Given the description of an element on the screen output the (x, y) to click on. 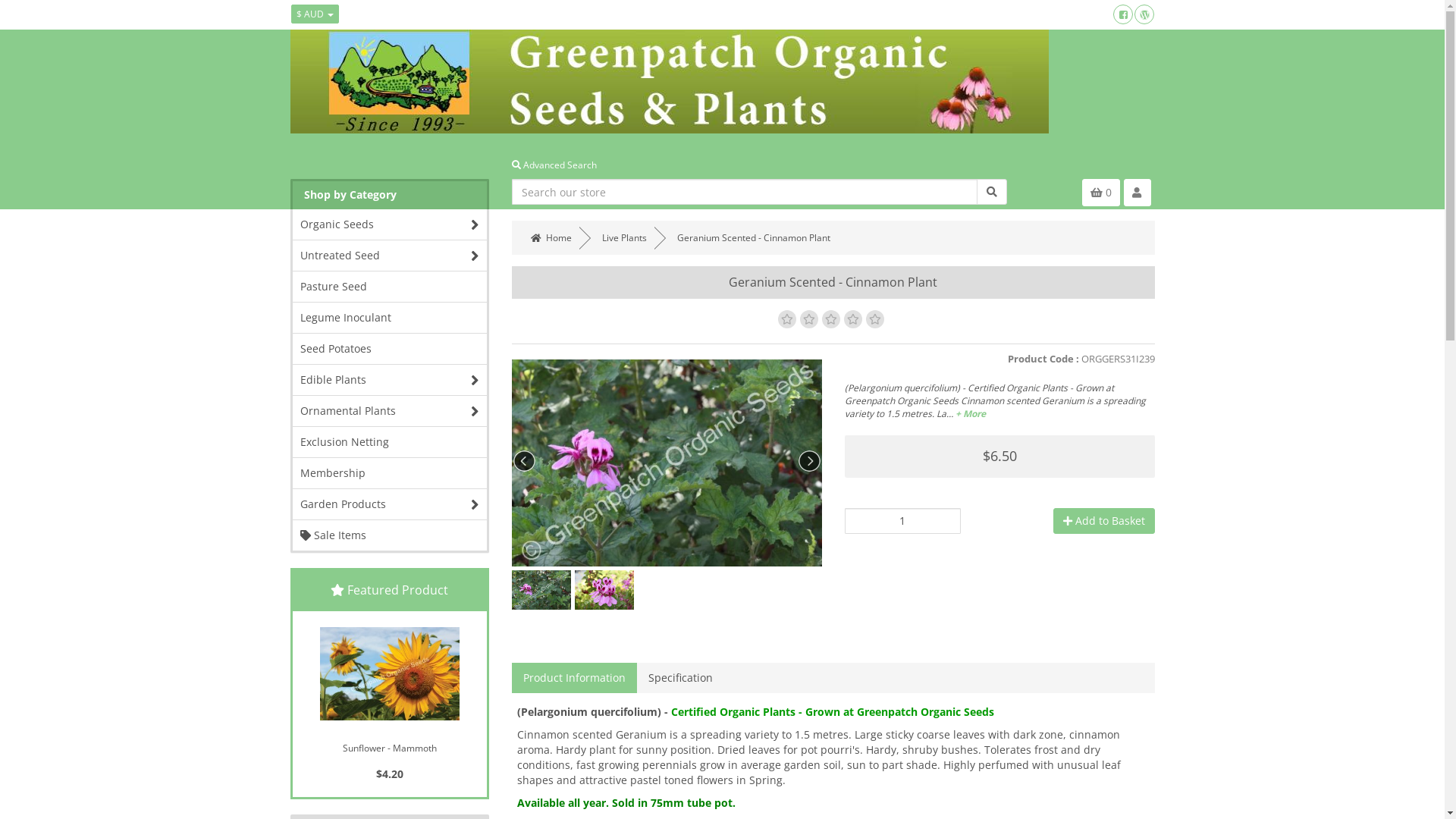
Advanced Search Element type: text (553, 164)
+ More Element type: text (970, 413)
Pasture Seed Element type: text (389, 286)
Geranium Scented - Cinnamon Plant Element type: text (753, 237)
 Home Element type: text (551, 237)
Click to enlarge Element type: hover (666, 461)
Membership Element type: text (389, 473)
Search Element type: text (991, 191)
Edible Plants Element type: text (389, 379)
Seed Potatoes Element type: text (389, 348)
Product Information Element type: text (574, 677)
Facebook Element type: hover (1122, 14)
$ AUD Element type: text (314, 13)
Specification Element type: text (680, 677)
Untreated Seed Element type: text (389, 255)
0 Element type: text (1100, 192)
Legume Inoculant Element type: text (389, 317)
Add to Basket Element type: text (1103, 520)
Sunflower - Mammoth Element type: hover (389, 673)
Click to enlarge Element type: hover (356, 461)
Sale Items Element type: text (389, 535)
WordPress Element type: hover (1144, 14)
Organic Seeds Element type: text (389, 224)
Exclusion Netting Element type: text (389, 441)
Sunflower - Mammoth Element type: text (389, 744)
Live Plants Element type: text (624, 237)
Ornamental Plants Element type: text (389, 410)
Garden Products Element type: text (389, 504)
